Given the description of an element on the screen output the (x, y) to click on. 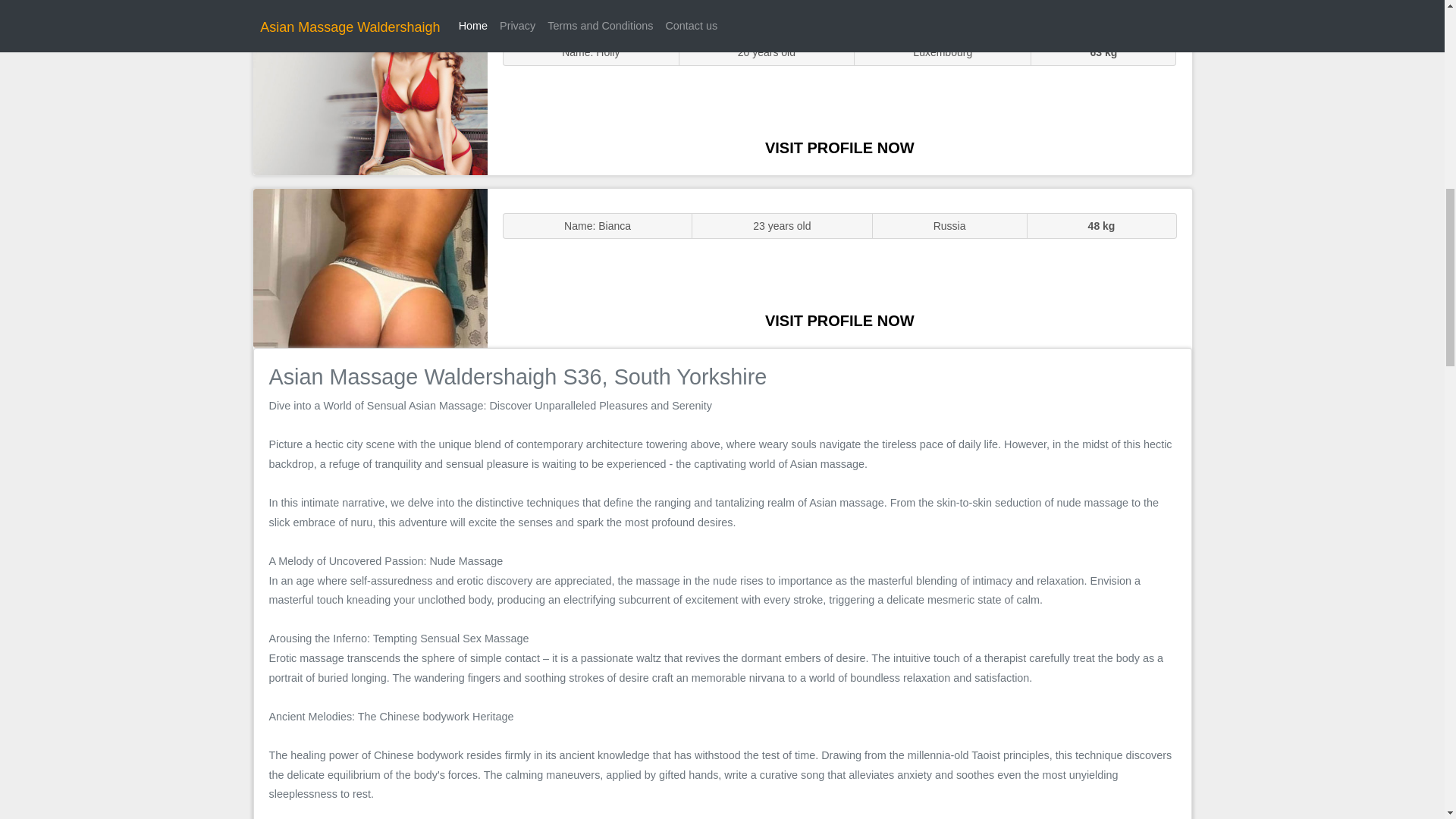
VISIT PROFILE NOW (839, 320)
VISIT PROFILE NOW (839, 147)
Massage (370, 267)
Sluts (370, 94)
